Given the description of an element on the screen output the (x, y) to click on. 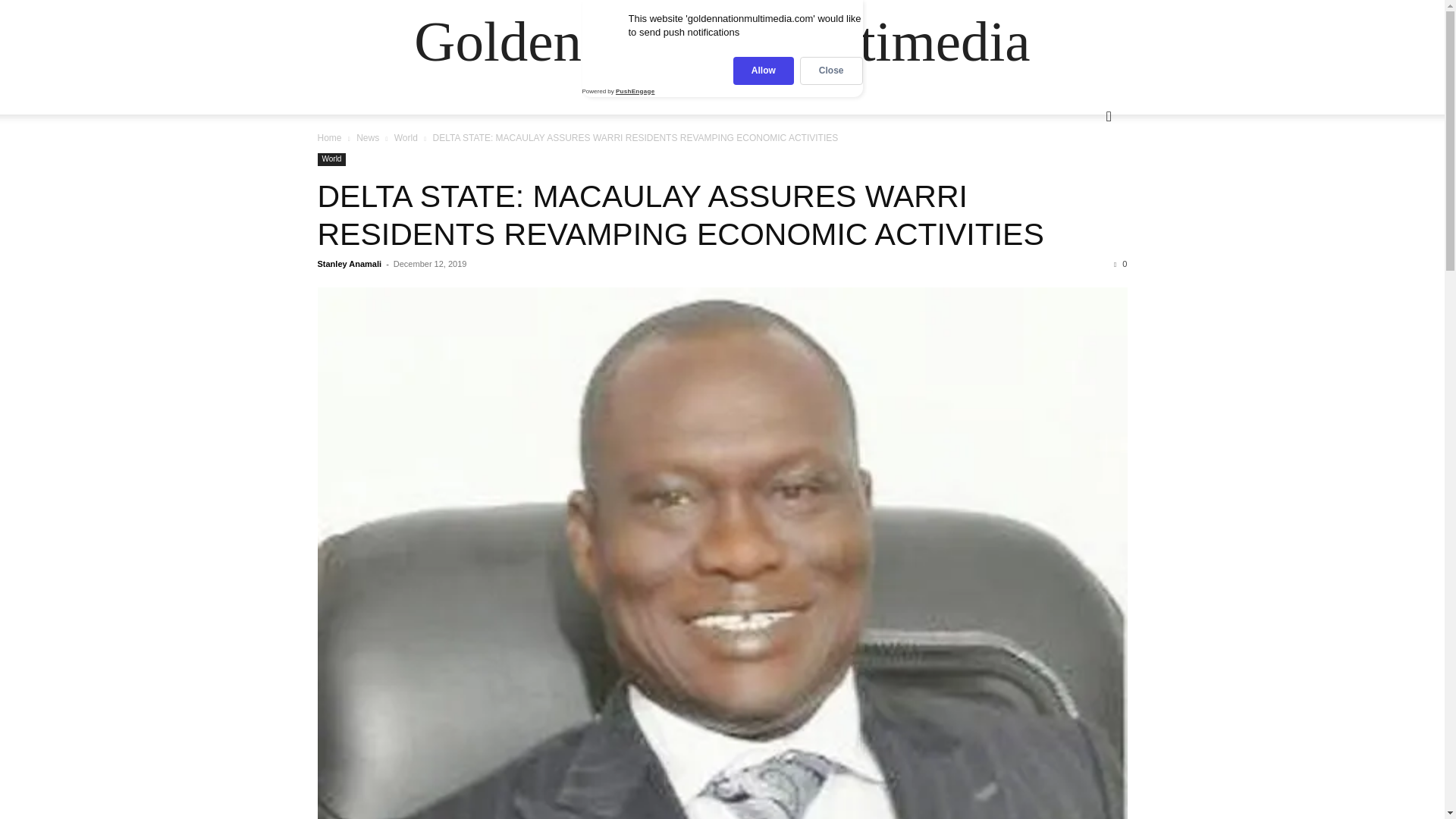
Stanley Anamali (349, 263)
0 (1119, 263)
World (405, 137)
Search (1085, 177)
World (331, 159)
View all posts in News (367, 137)
Golden Nation Multimedia (721, 41)
View all posts in World (405, 137)
Home (328, 137)
News (367, 137)
